Given the description of an element on the screen output the (x, y) to click on. 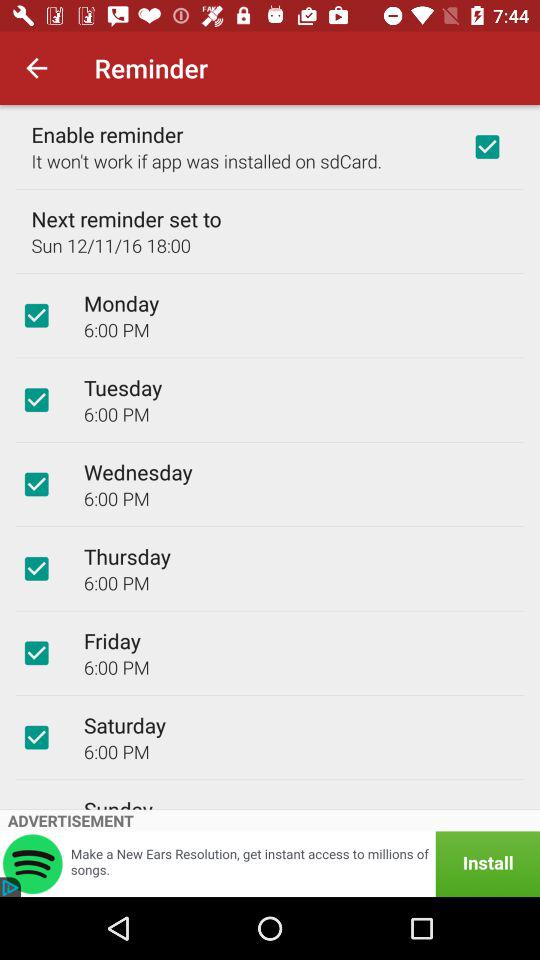
choose icon next to the enable reminder (487, 146)
